Given the description of an element on the screen output the (x, y) to click on. 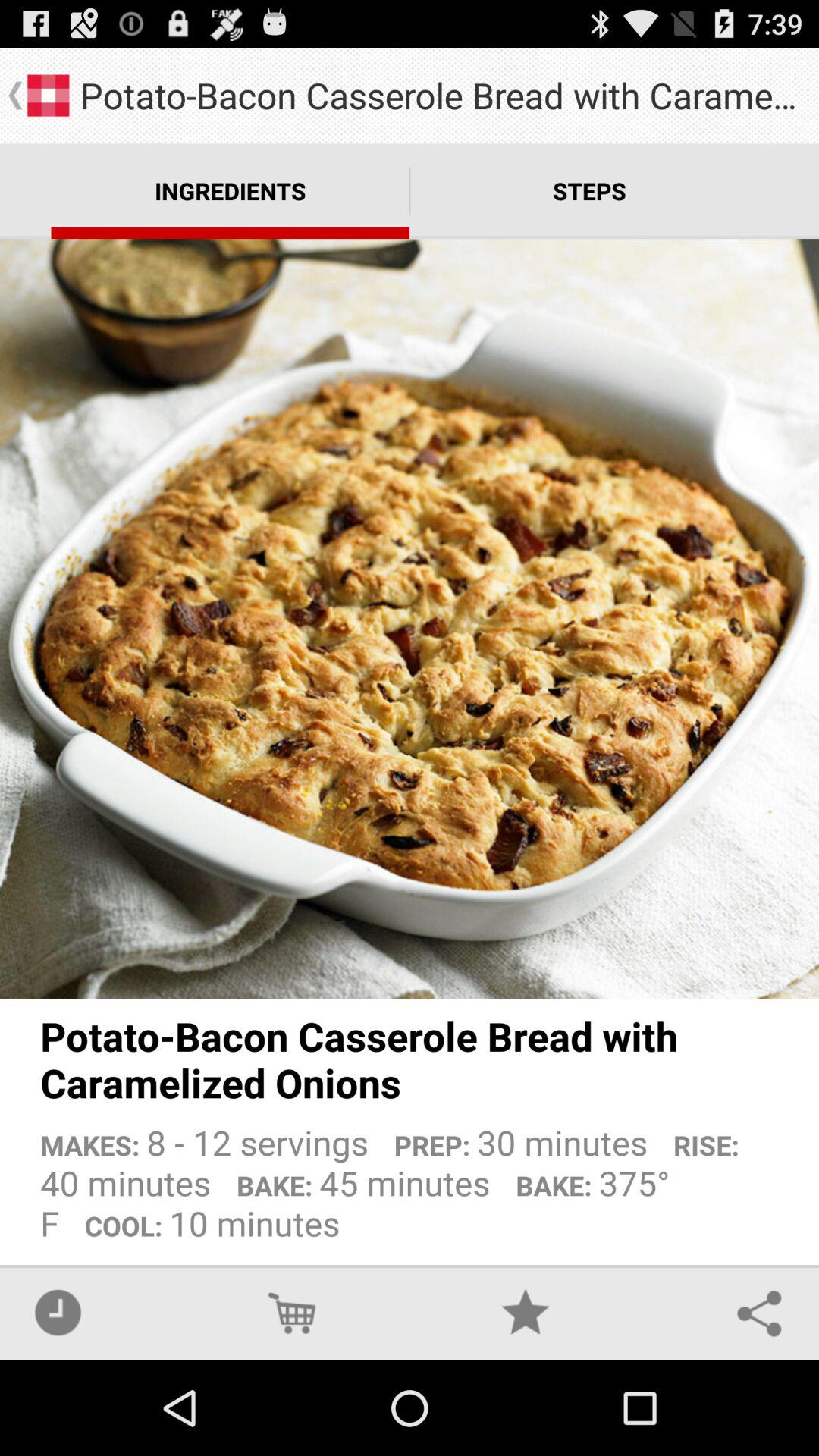
open the icon below makes 8 12 item (525, 1312)
